Given the description of an element on the screen output the (x, y) to click on. 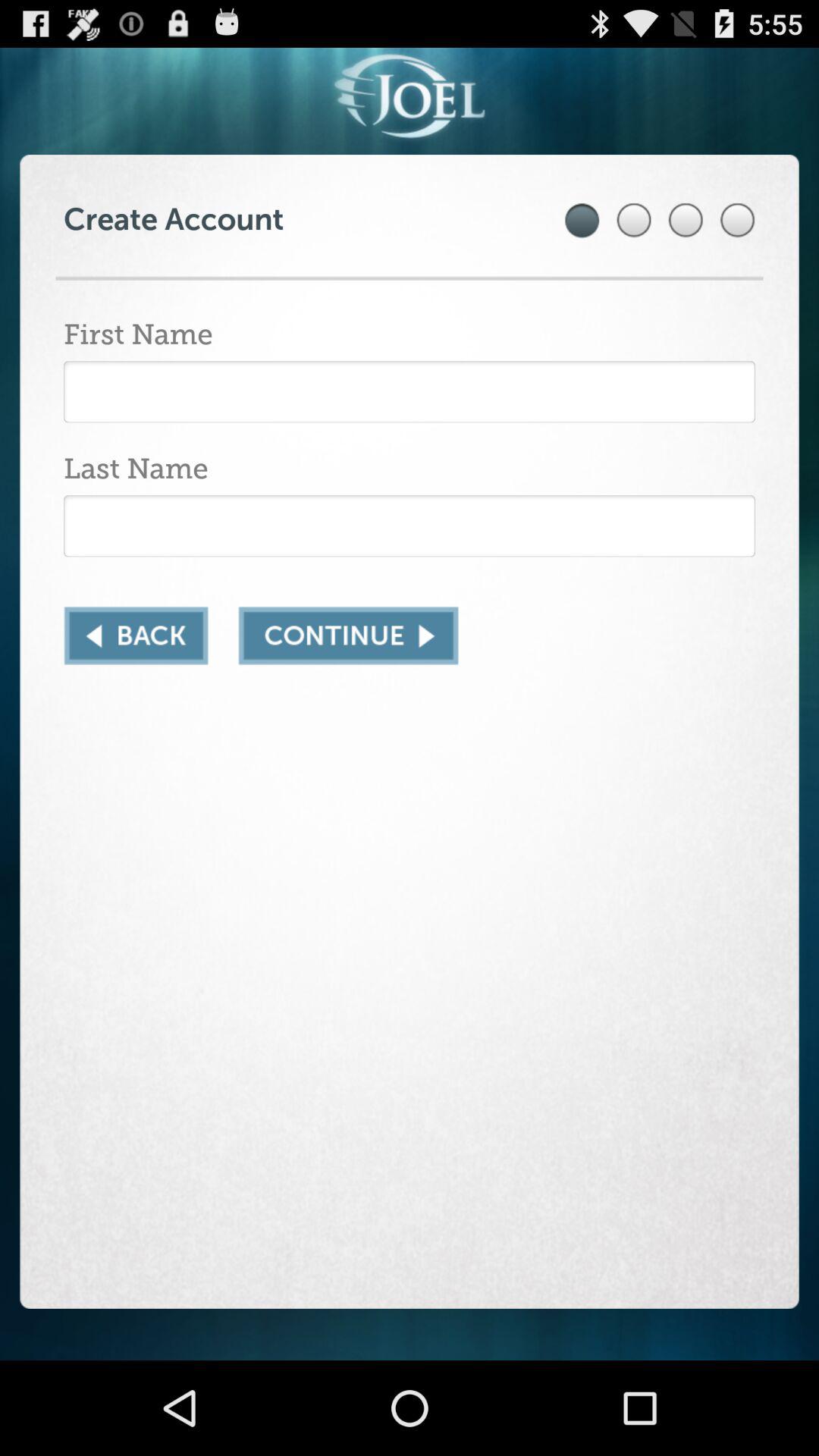
enter first name below the circle (409, 391)
